Given the description of an element on the screen output the (x, y) to click on. 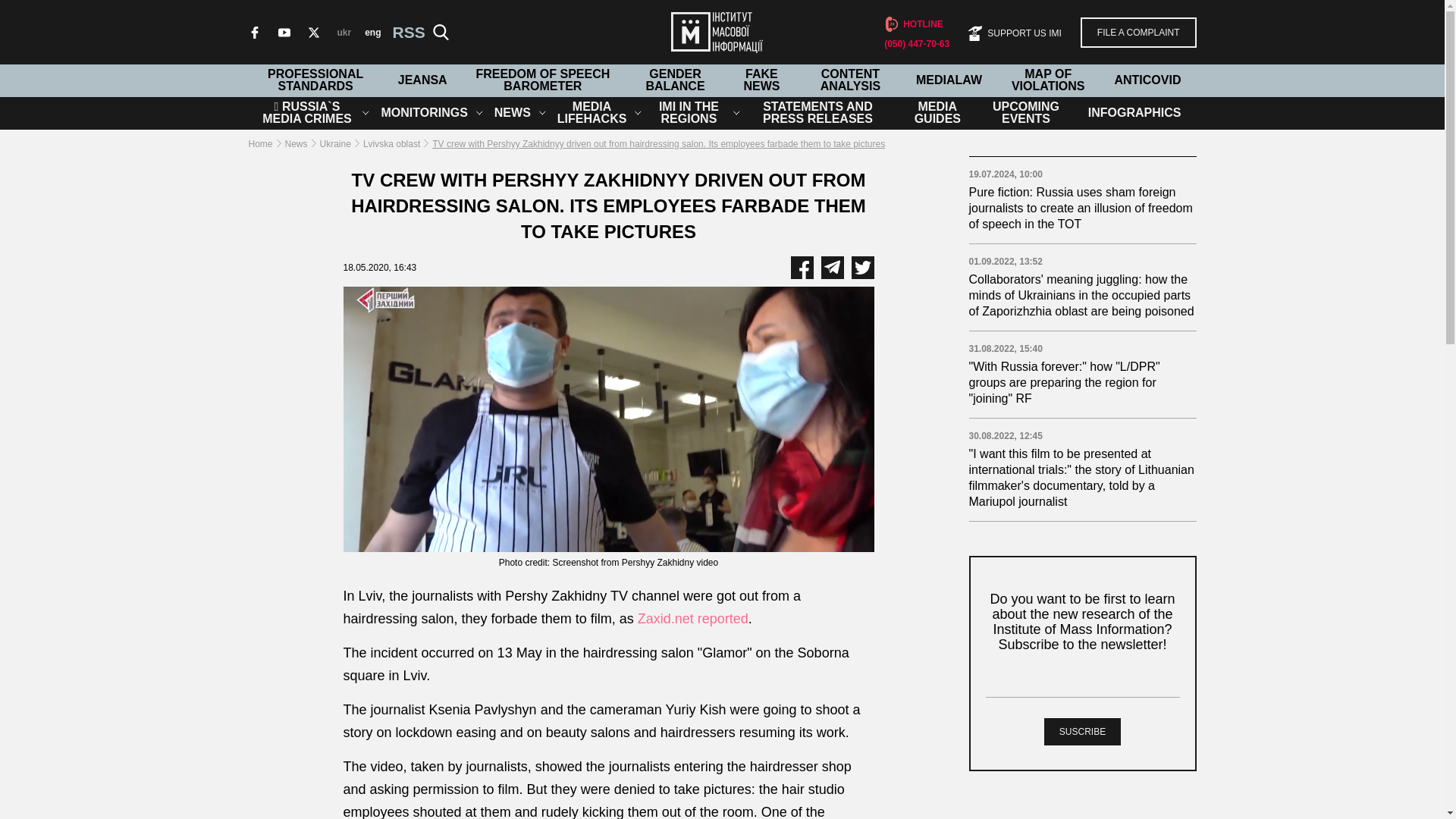
JEANSA (421, 80)
FREEDOM OF SPEECH BAROMETER (542, 79)
ANTICOVID (1146, 80)
GENDER BALANCE (675, 79)
MEDIALAW (948, 80)
MONITORINGS (423, 112)
HOTLINE (913, 23)
PROFESSIONAL STANDARDS (315, 79)
FILE A COMPLAINT (1138, 31)
CONTENT ANALYSIS (849, 79)
